Given the description of an element on the screen output the (x, y) to click on. 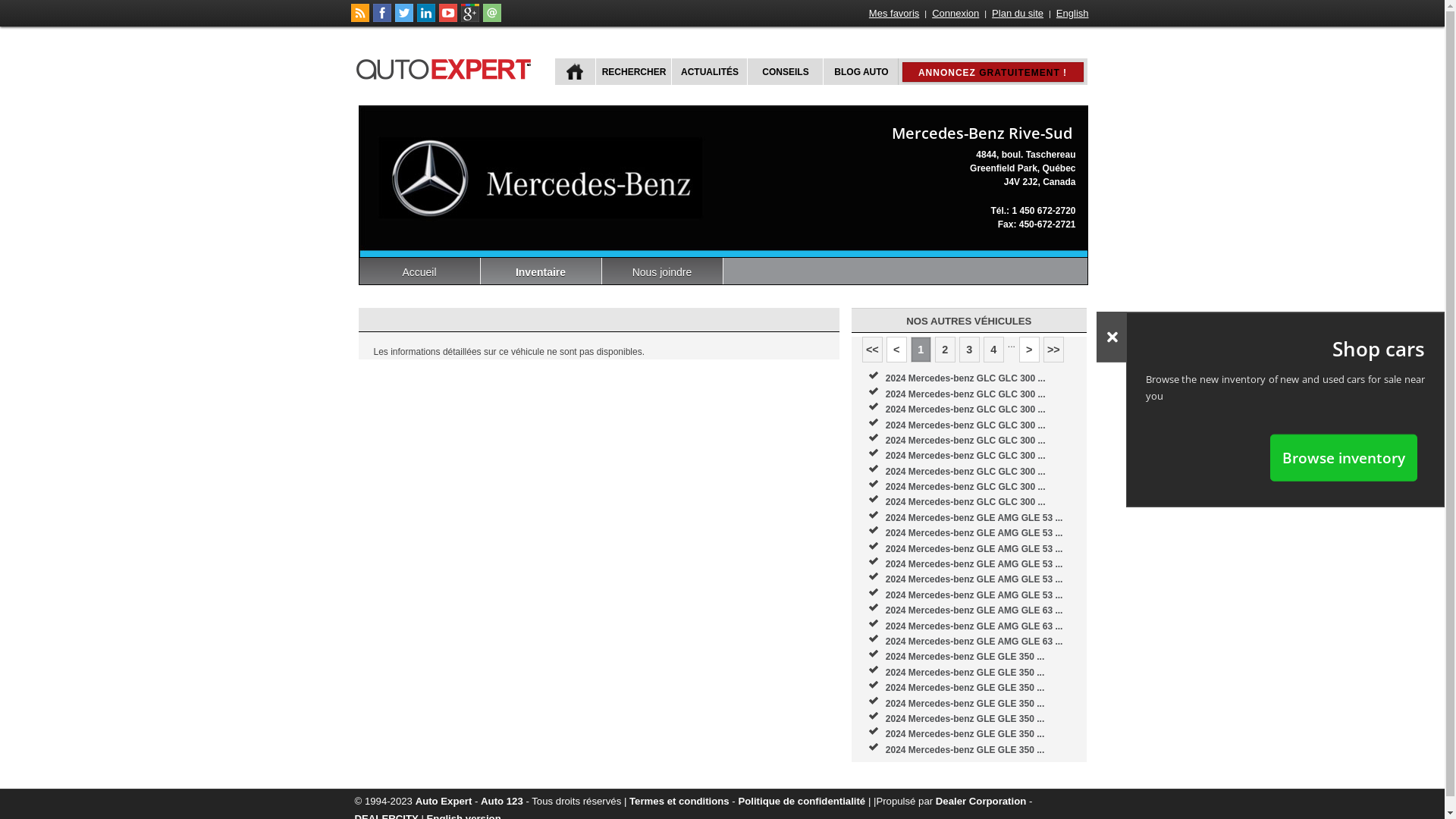
Suivez autoExpert.ca sur Twitter Element type: hover (403, 18)
Plan du site Element type: text (1017, 13)
Joindre autoExpert.ca Element type: hover (491, 18)
BLOG AUTO Element type: text (859, 71)
2024 Mercedes-benz GLE GLE 350 ... Element type: text (964, 718)
2024 Mercedes-benz GLE GLE 350 ... Element type: text (964, 703)
2024 Mercedes-benz GLC GLC 300 ... Element type: text (965, 378)
2024 Mercedes-benz GLE AMG GLE 53 ... Element type: text (974, 532)
2024 Mercedes-benz GLE AMG GLE 63 ... Element type: text (974, 626)
ACCUEIL Element type: text (575, 71)
2024 Mercedes-benz GLC GLC 300 ... Element type: text (965, 440)
Browse inventory Element type: text (1343, 457)
2024 Mercedes-benz GLC GLC 300 ... Element type: text (965, 394)
2024 Mercedes-benz GLC GLC 300 ... Element type: text (965, 471)
2024 Mercedes-benz GLC GLC 300 ... Element type: text (965, 425)
Mes favoris Element type: text (893, 13)
Suivez autoExpert.ca sur Google Plus Element type: hover (470, 18)
CONSEILS Element type: text (783, 71)
1 Element type: text (920, 349)
2024 Mercedes-benz GLE GLE 350 ... Element type: text (964, 687)
English Element type: text (1072, 13)
Auto Expert Element type: text (443, 800)
Connexion Element type: text (955, 13)
Termes et conditions Element type: text (679, 800)
2 Element type: text (945, 349)
>> Element type: text (1053, 349)
Auto 123 Element type: text (501, 800)
Dealer Corporation Element type: text (980, 800)
2024 Mercedes-benz GLC GLC 300 ... Element type: text (965, 409)
2024 Mercedes-benz GLE AMG GLE 63 ... Element type: text (974, 641)
Nous joindre Element type: text (662, 270)
Suivez autoExpert.ca sur Youtube Element type: hover (447, 18)
> Element type: text (1029, 349)
2024 Mercedes-benz GLC GLC 300 ... Element type: text (965, 455)
2024 Mercedes-benz GLE AMG GLE 53 ... Element type: text (974, 594)
autoExpert.ca Element type: text (446, 66)
ANNONCEZ GRATUITEMENT ! Element type: text (992, 71)
2024 Mercedes-benz GLE AMG GLE 63 ... Element type: text (974, 610)
< Element type: text (896, 349)
2024 Mercedes-benz GLE GLE 350 ... Element type: text (964, 749)
2024 Mercedes-benz GLC GLC 300 ... Element type: text (965, 486)
2024 Mercedes-benz GLE GLE 350 ... Element type: text (964, 672)
<< Element type: text (872, 349)
Suivez autoExpert.ca sur Facebook Element type: hover (382, 18)
Accueil Element type: text (419, 270)
3 Element type: text (969, 349)
RECHERCHER Element type: text (631, 71)
2024 Mercedes-benz GLE AMG GLE 53 ... Element type: text (974, 517)
2024 Mercedes-benz GLE AMG GLE 53 ... Element type: text (974, 563)
2024 Mercedes-benz GLE GLE 350 ... Element type: text (964, 733)
Inventaire Element type: text (541, 270)
2024 Mercedes-benz GLC GLC 300 ... Element type: text (965, 501)
4 Element type: text (993, 349)
Suivez Publications Le Guide Inc. sur LinkedIn Element type: hover (426, 18)
2024 Mercedes-benz GLE AMG GLE 53 ... Element type: text (974, 548)
2024 Mercedes-benz GLE AMG GLE 53 ... Element type: text (974, 579)
2024 Mercedes-benz GLE GLE 350 ... Element type: text (964, 656)
